Given the description of an element on the screen output the (x, y) to click on. 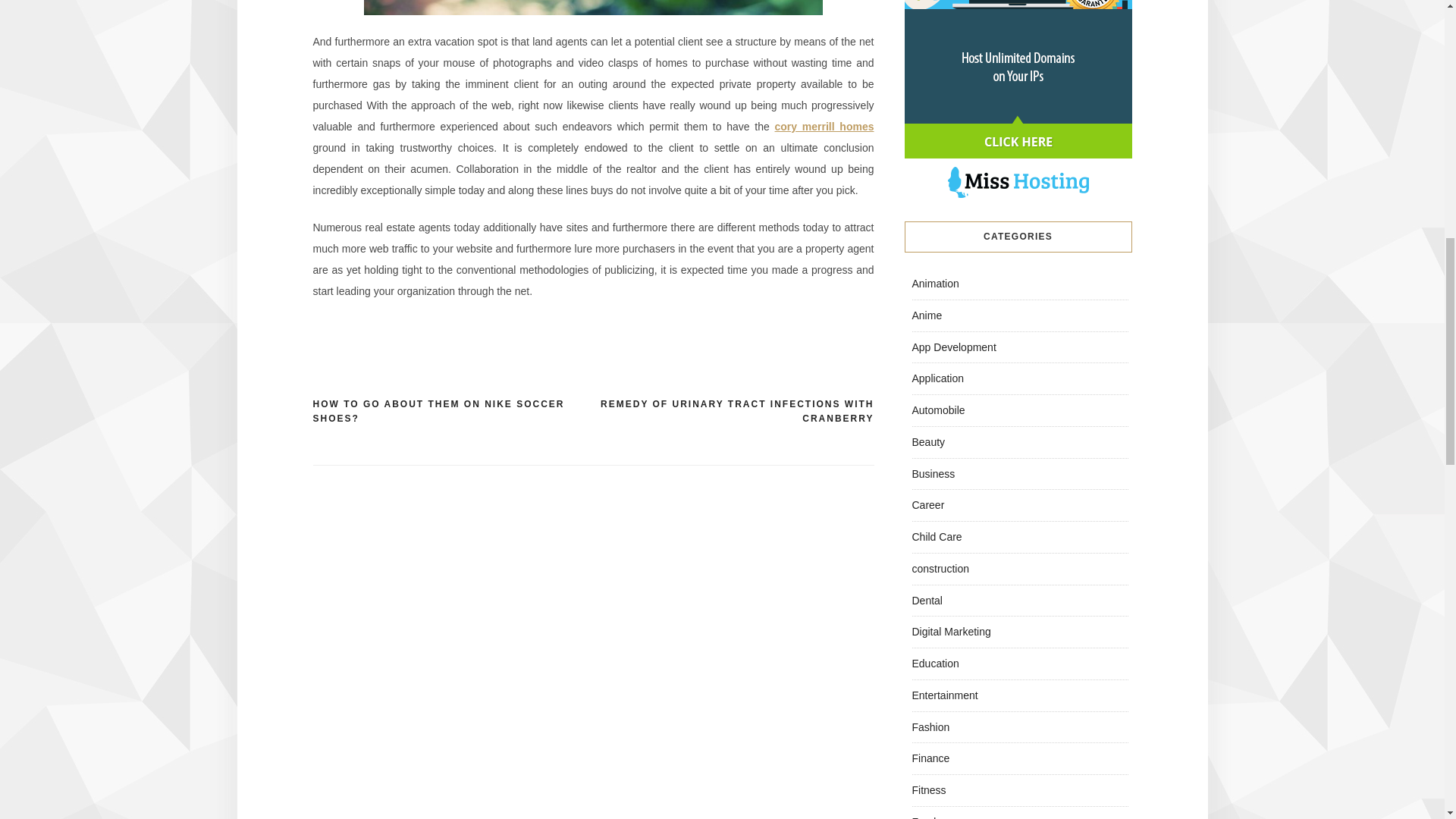
REMEDY OF URINARY TRACT INFECTIONS WITH CRANBERRY (732, 411)
Education (934, 663)
cory merrill homes (824, 126)
Beauty (927, 441)
Automobile (937, 410)
Fashion (930, 726)
construction (939, 568)
Child Care (935, 536)
Animation (934, 283)
Business (933, 472)
Digital Marketing (950, 631)
HOW TO GO ABOUT THEM ON NIKE SOCCER SHOES? (452, 411)
Anime (926, 315)
Application (937, 378)
Finance (930, 758)
